Given the description of an element on the screen output the (x, y) to click on. 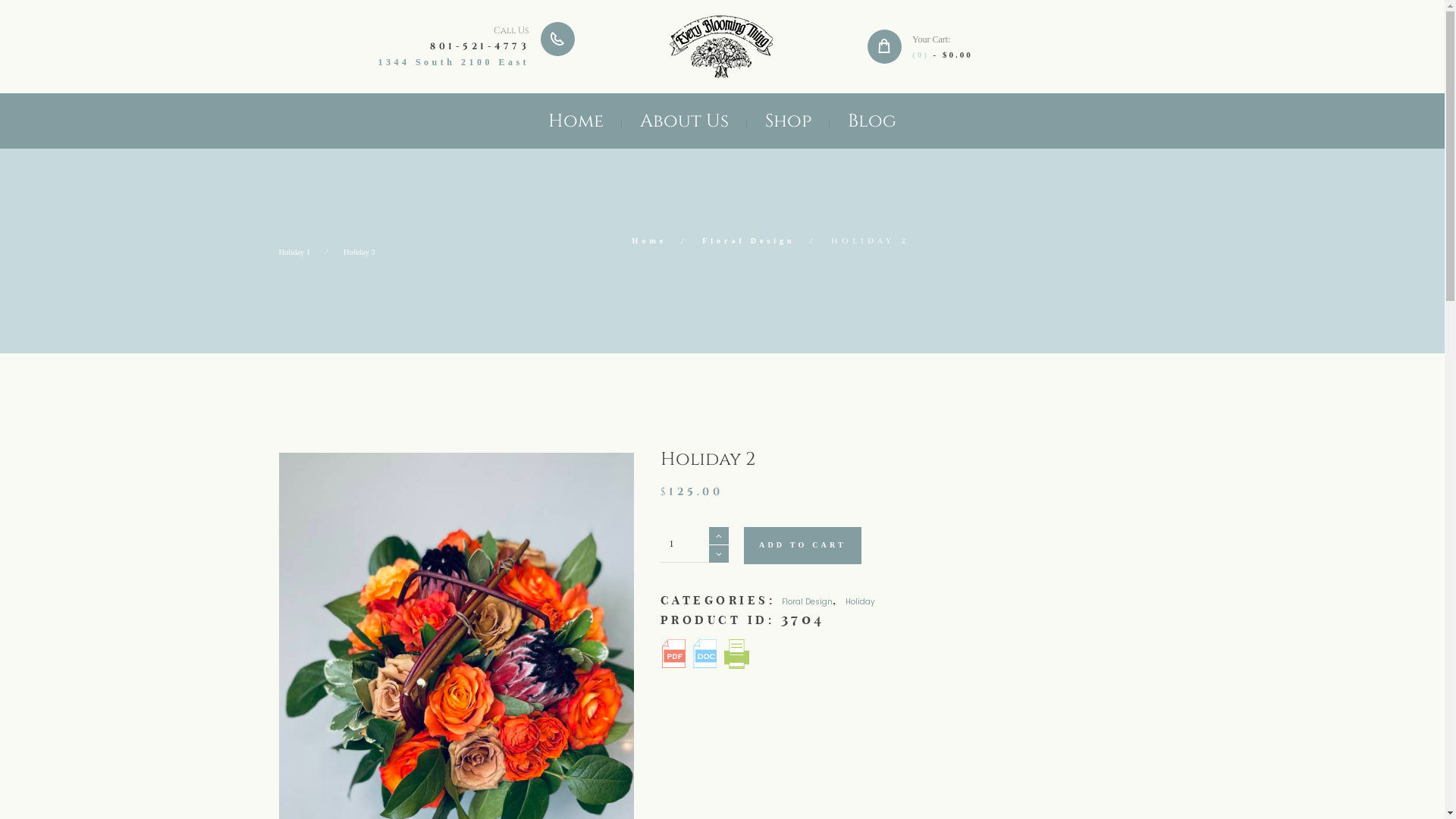
1344 South 2100 East Element type: text (453, 61)
Save as PDF Element type: hover (673, 653)
Home Element type: text (649, 240)
Holiday 1 Element type: text (294, 251)
Floral Design Element type: text (806, 601)
Holiday 3 Element type: text (359, 251)
Floral Design Element type: text (748, 240)
ADD TO CART Element type: text (802, 545)
Shop Element type: text (787, 120)
Home Element type: text (575, 120)
Save as Word Document Element type: hover (704, 653)
Blog Element type: text (872, 120)
Holiday Element type: text (860, 601)
Print this Product Element type: hover (736, 653)
About Us Element type: text (684, 120)
Your Cart:
(0) - $0.00 Element type: text (1015, 46)
